Given the description of an element on the screen output the (x, y) to click on. 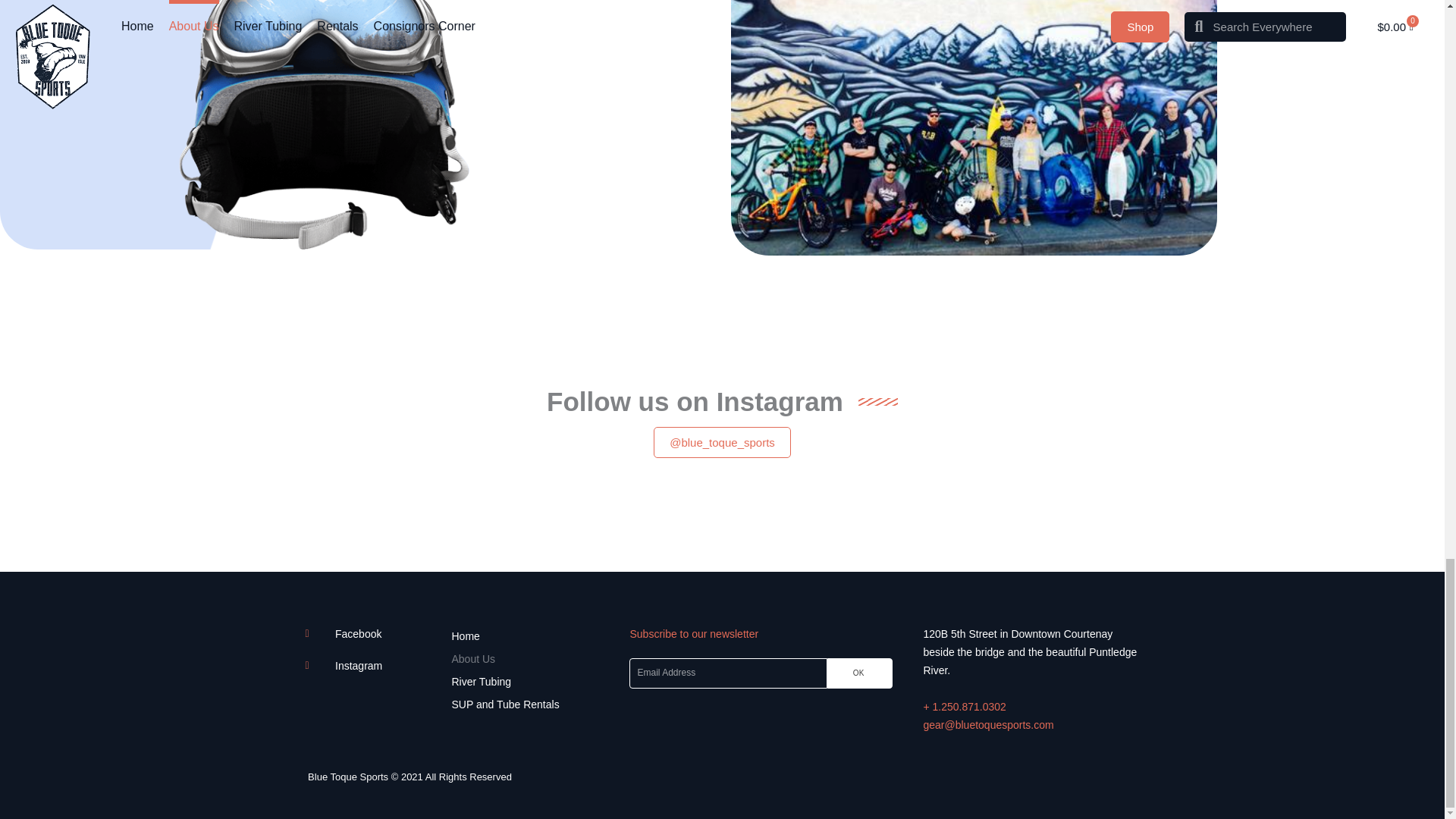
River Tubing (532, 681)
Instagram (369, 665)
Home (532, 635)
Facebook (369, 633)
About Us (532, 658)
SUP and Tube Rentals (532, 703)
